Given the description of an element on the screen output the (x, y) to click on. 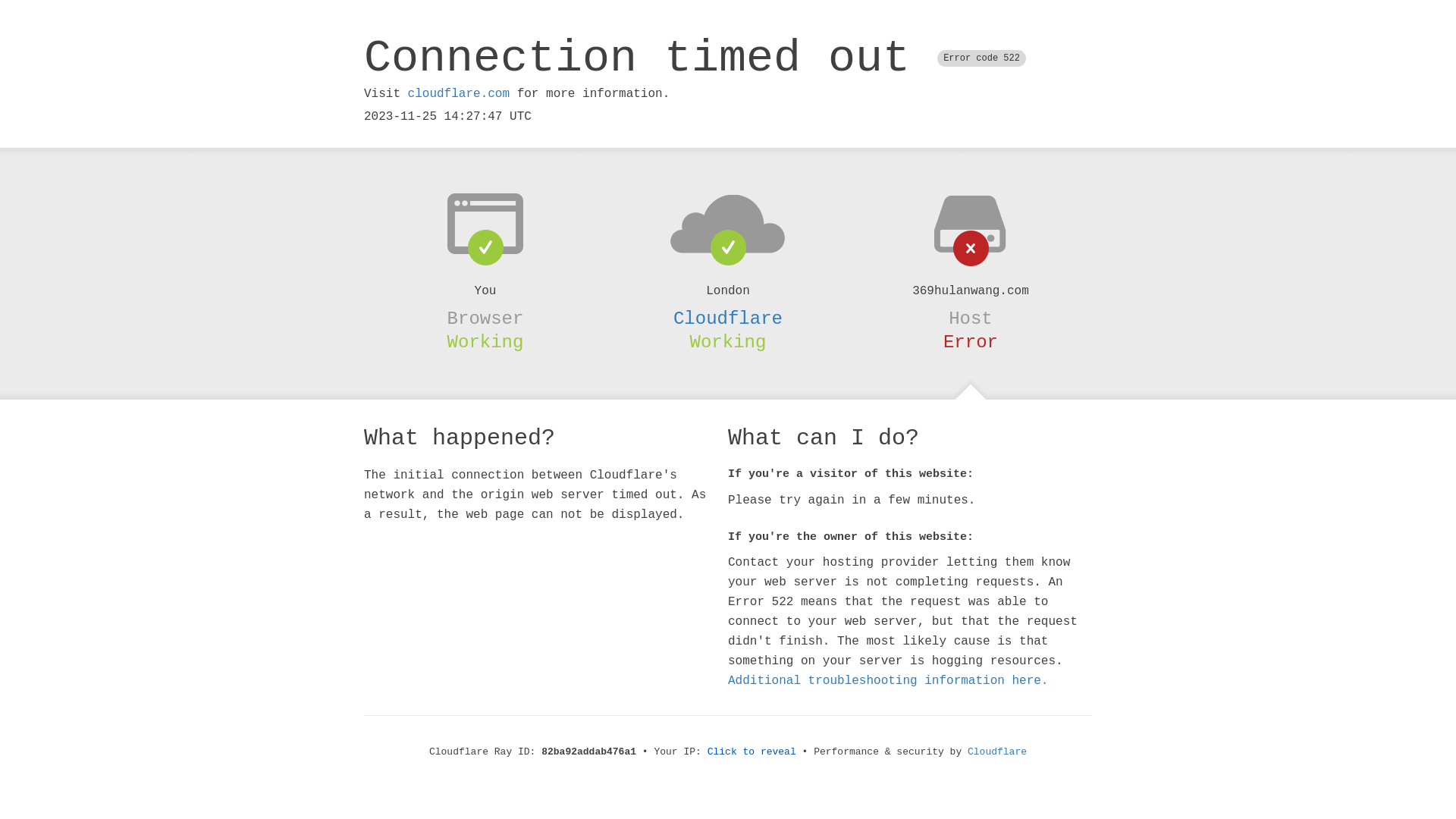
Cloudflare Element type: text (996, 751)
Cloudflare Element type: text (727, 318)
cloudflare.com Element type: text (458, 93)
Additional troubleshooting information here. Element type: text (888, 680)
Click to reveal Element type: text (751, 751)
